Given the description of an element on the screen output the (x, y) to click on. 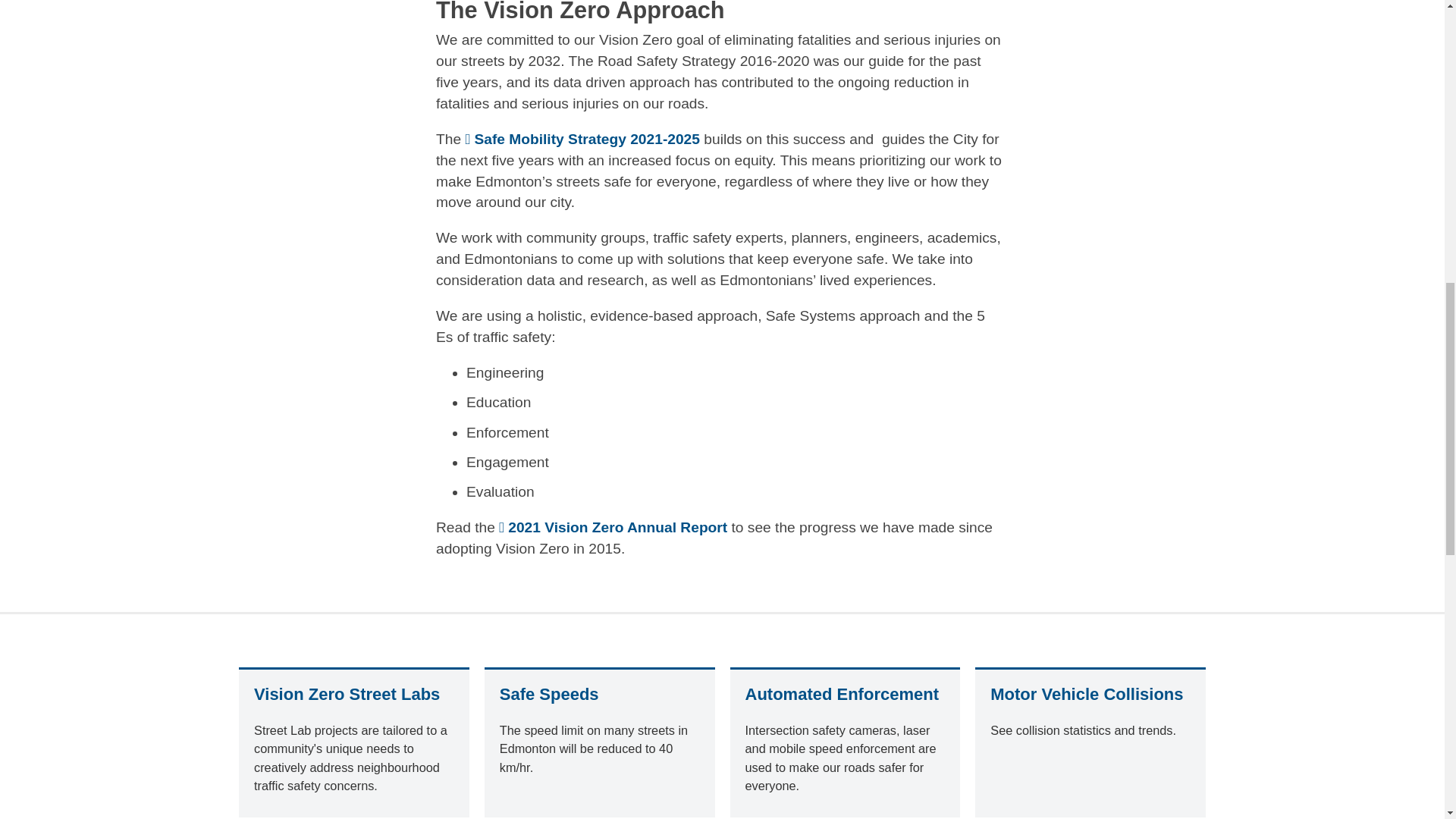
Safe Mobility Strategy 2021-2025 (582, 139)
2021 Vision Zero Annual Report (612, 527)
